Given the description of an element on the screen output the (x, y) to click on. 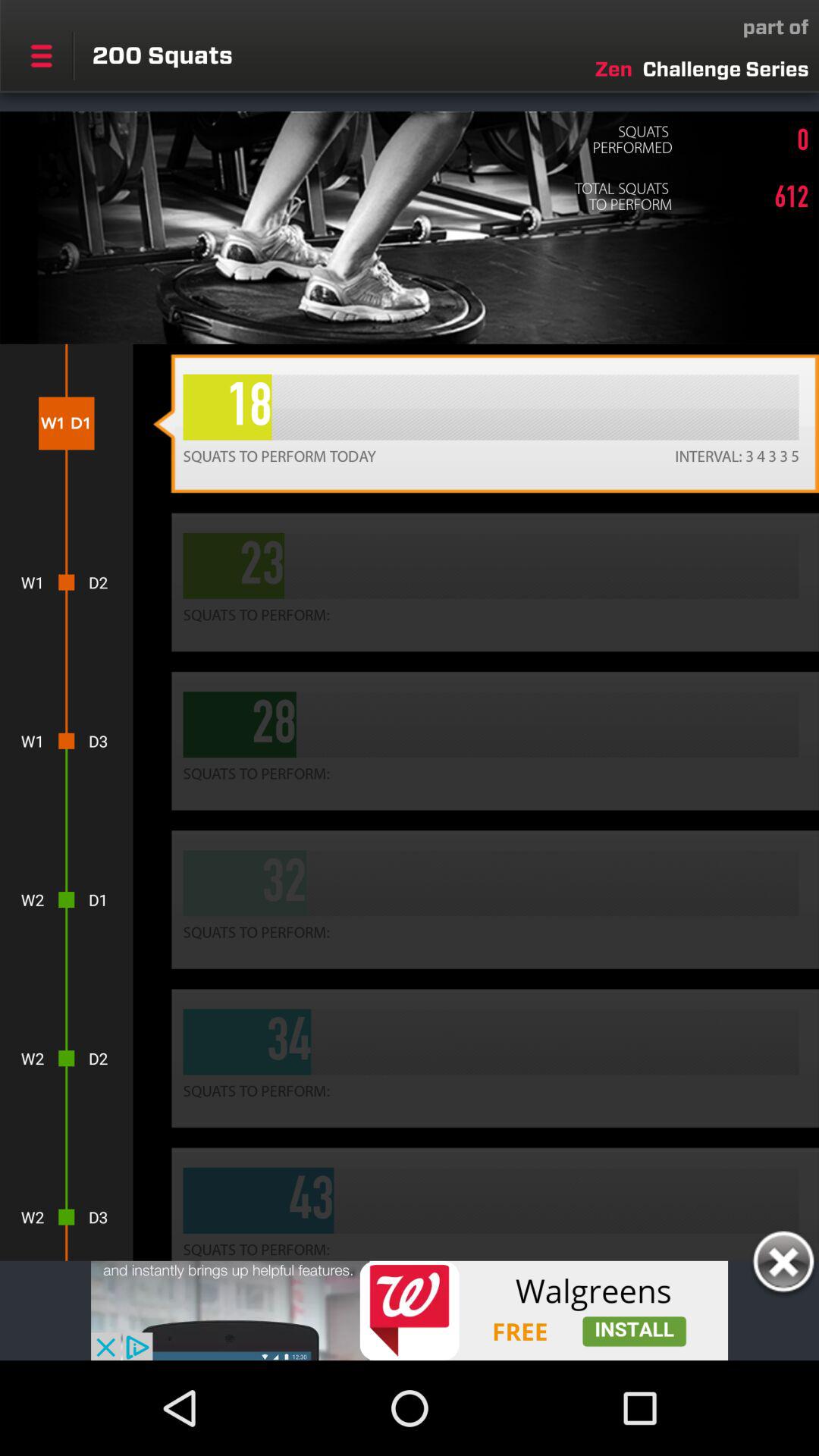
zoo squats of jim (409, 1310)
